Given the description of an element on the screen output the (x, y) to click on. 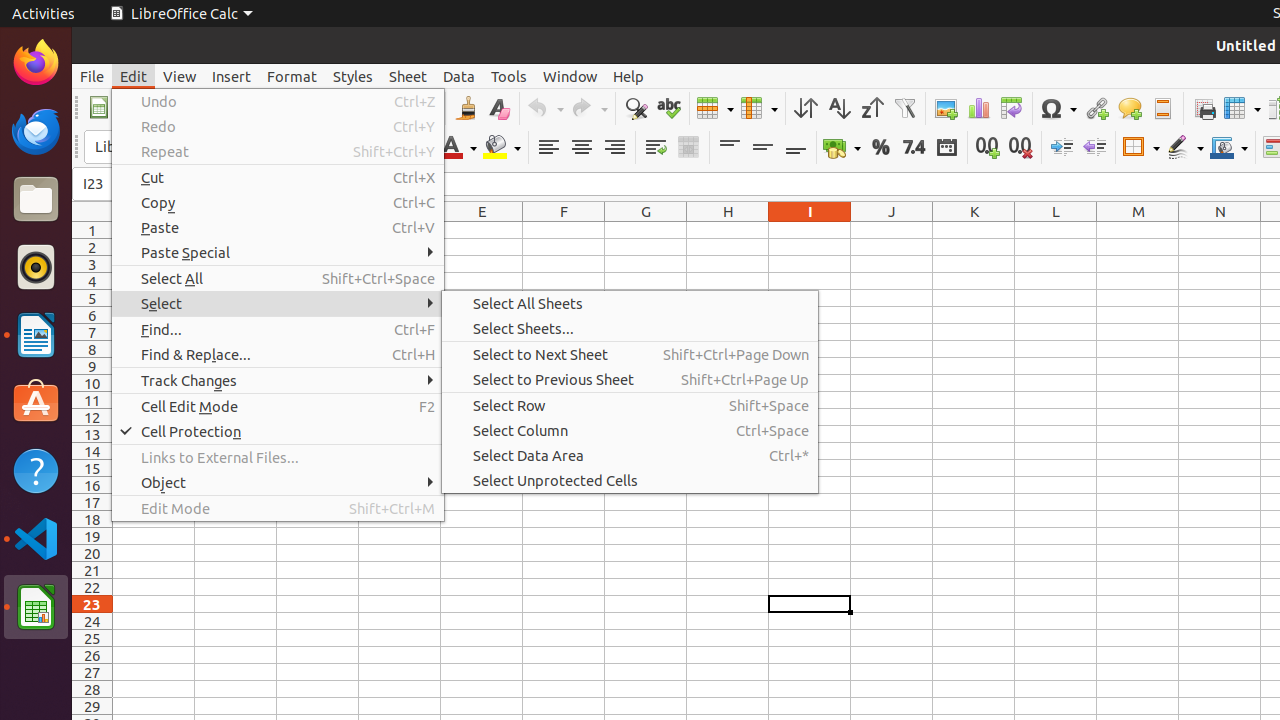
Undo Element type: push-button (545, 108)
File Element type: menu (92, 76)
Border Color Element type: push-button (1229, 147)
Select Column Element type: menu-item (630, 430)
Align Top Element type: push-button (729, 147)
